Given the description of an element on the screen output the (x, y) to click on. 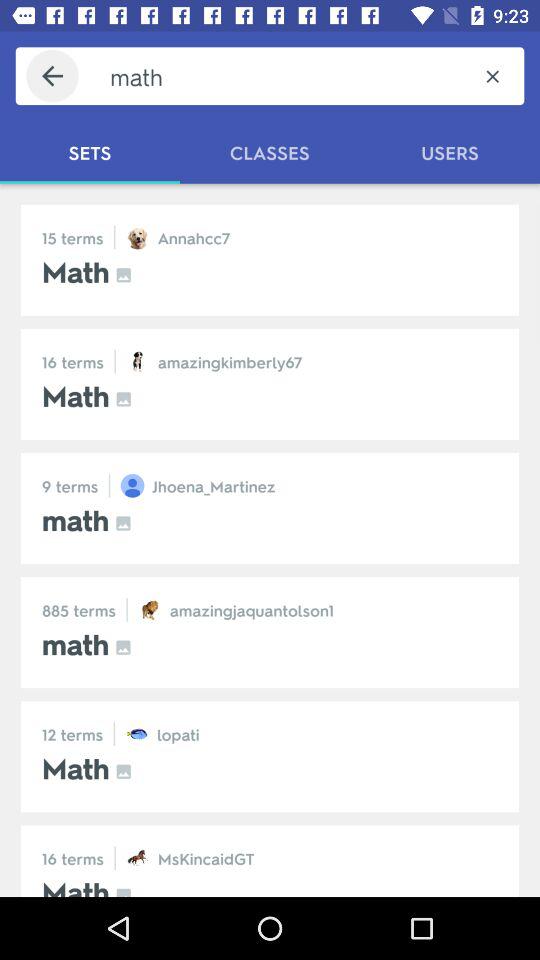
open the item to the right of the math (492, 75)
